Given the description of an element on the screen output the (x, y) to click on. 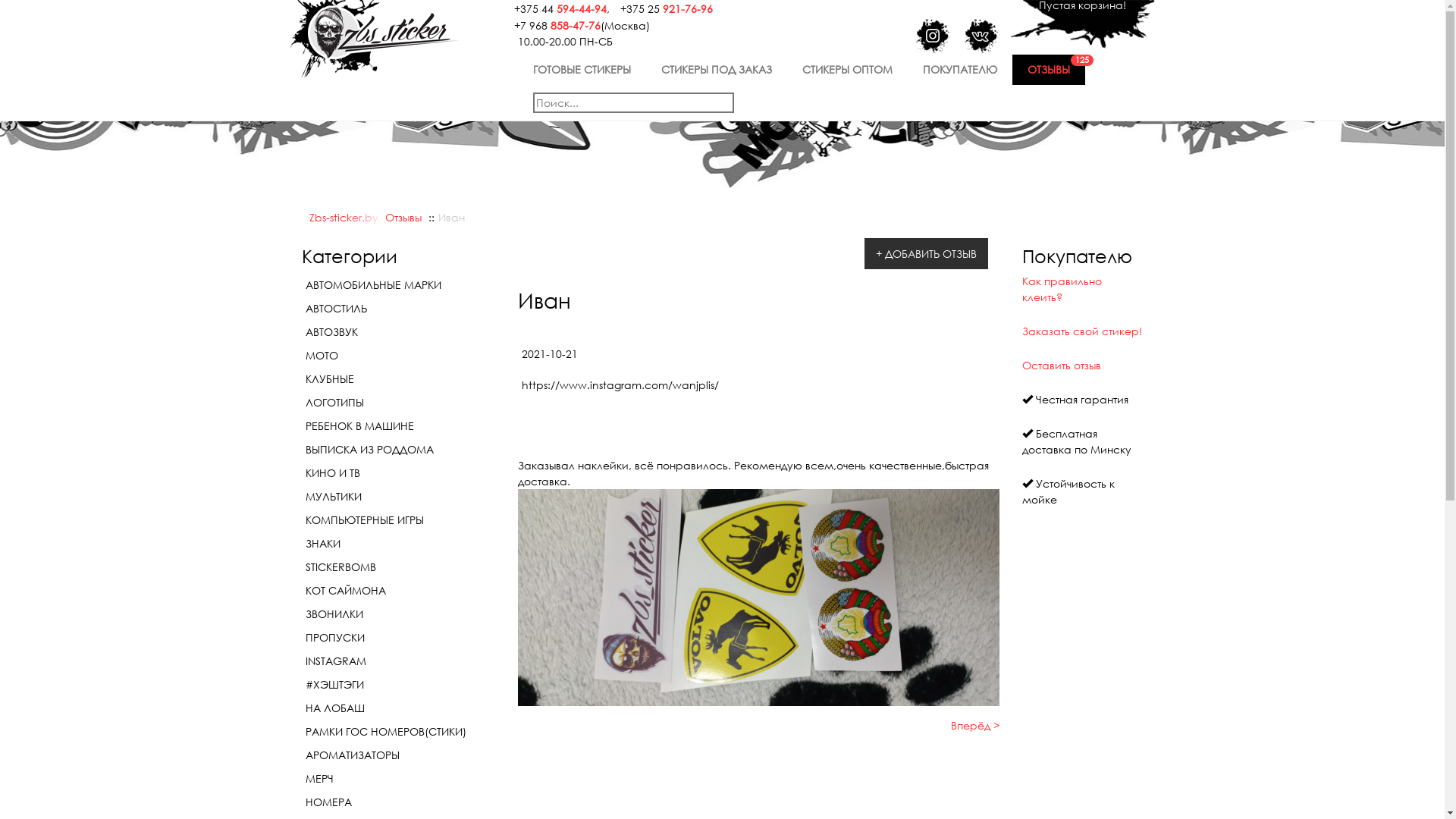
INSTAGRAM Element type: text (398, 660)
+375 25 921-76-96 Element type: text (662, 7)
STICKERBOMB Element type: text (398, 566)
+375 44 594-44-94 Element type: text (556, 7)
Zbs-sticker.by Element type: text (343, 217)
